Given the description of an element on the screen output the (x, y) to click on. 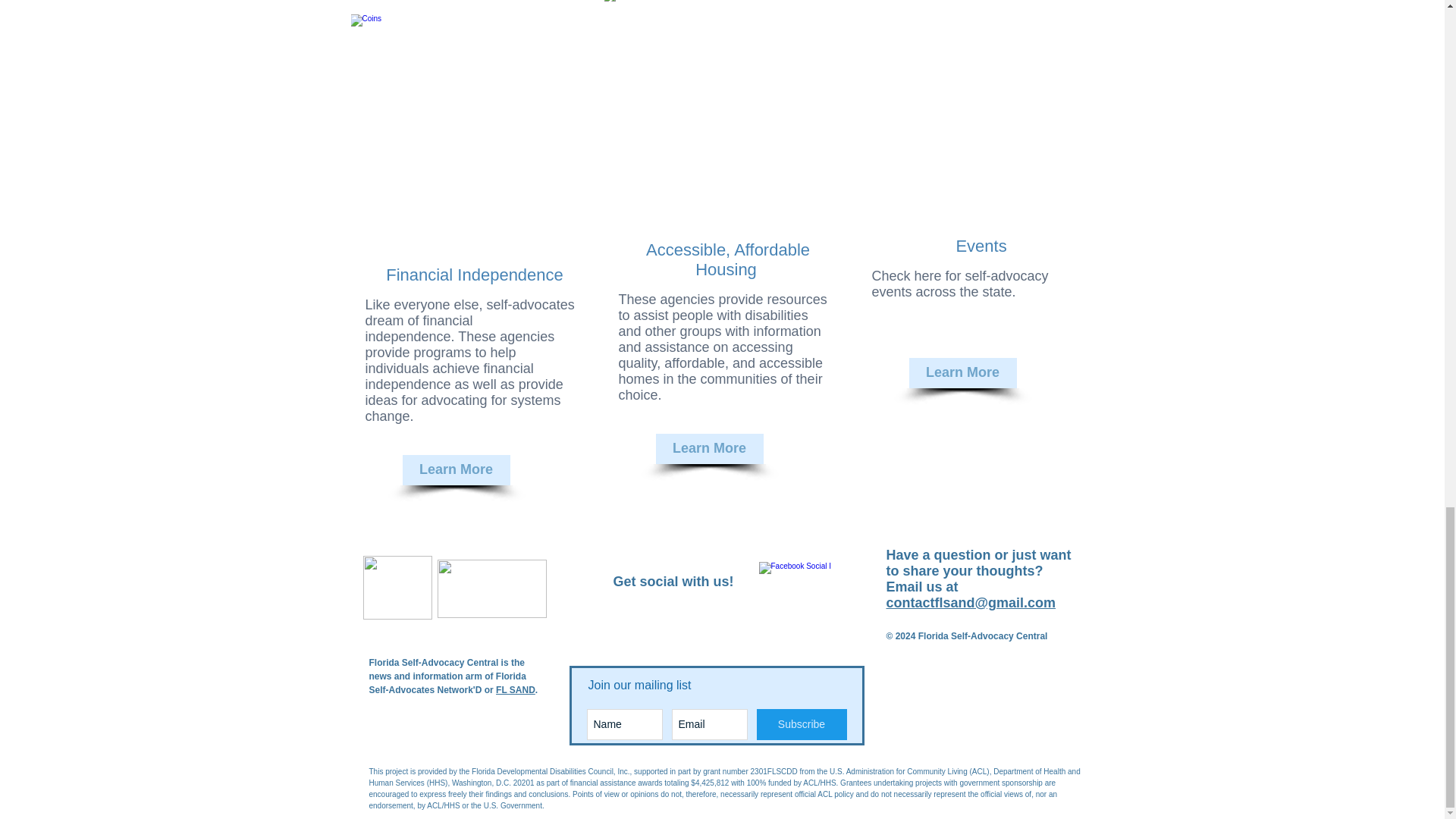
Learn More (962, 372)
FL SAND (515, 689)
Learn More (708, 449)
Learn More (455, 470)
Subscribe (802, 724)
